Given the description of an element on the screen output the (x, y) to click on. 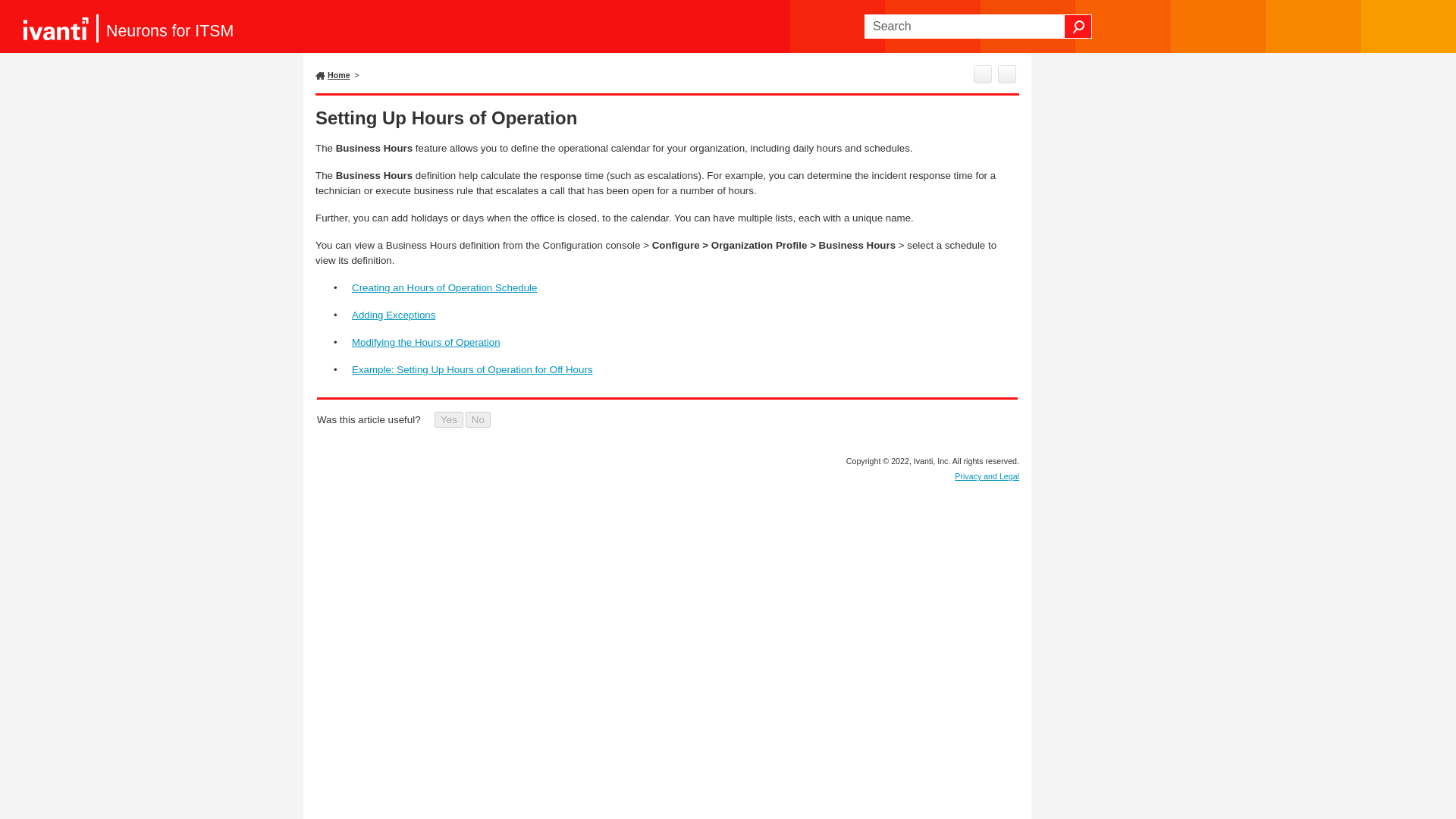
Search (1078, 26)
Print (982, 74)
Adding Exceptions (393, 315)
Modifying the Hours of Operation (426, 342)
Yes (448, 419)
No (477, 419)
Creating an Hours of Operation Schedule (444, 287)
Expand all (1006, 74)
Example: Setting Up Hours of Operation for Off Hours (472, 369)
Home (338, 74)
